Given the description of an element on the screen output the (x, y) to click on. 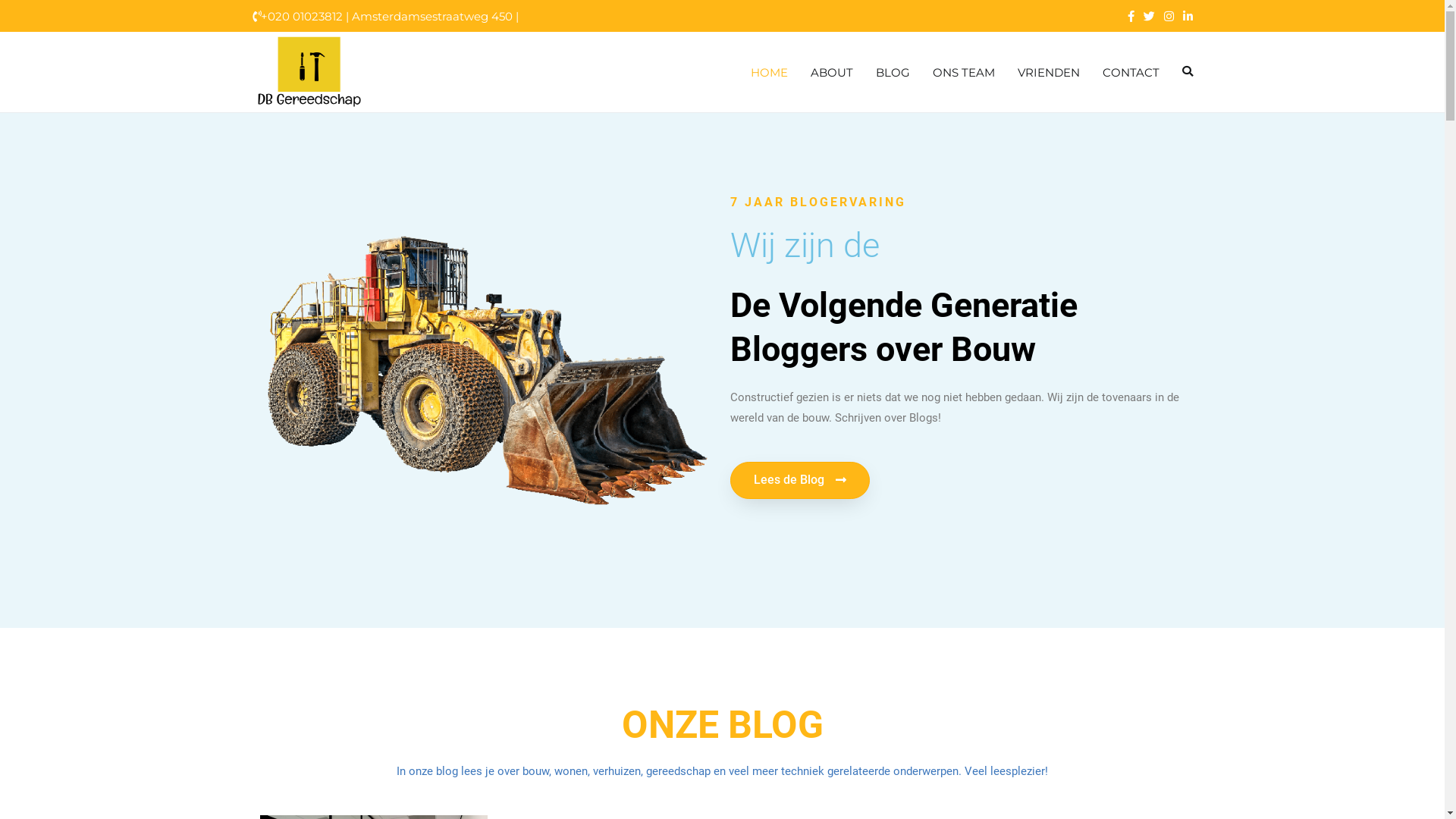
BLOG Element type: text (892, 72)
DB Gereedschap Element type: text (433, 82)
ABOUT Element type: text (830, 72)
VRIENDEN Element type: text (1048, 72)
Lees de Blog Element type: text (799, 479)
ONS TEAM Element type: text (963, 72)
CONTACT Element type: text (1130, 72)
Zoeken Element type: text (32, 14)
HOME Element type: text (768, 72)
